Given the description of an element on the screen output the (x, y) to click on. 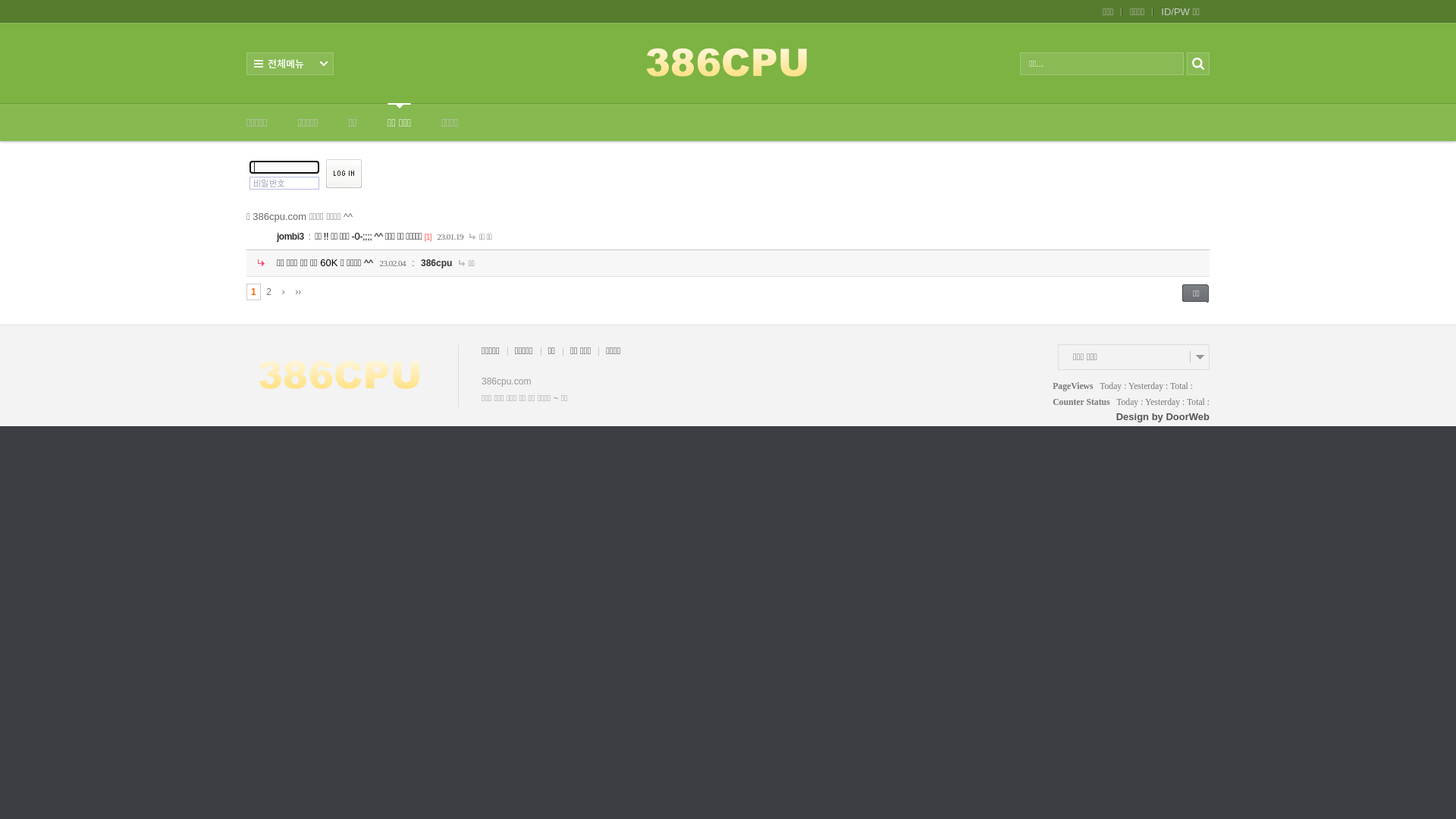
keyword Element type: hover (1101, 63)
login Element type: hover (343, 173)
2 Element type: text (268, 291)
386cpu Element type: text (435, 262)
jombi3 Element type: text (290, 236)
Design by DoorWeb Element type: text (1162, 415)
user id Element type: hover (284, 166)
submit Element type: hover (1197, 62)
password Element type: hover (284, 182)
